Given the description of an element on the screen output the (x, y) to click on. 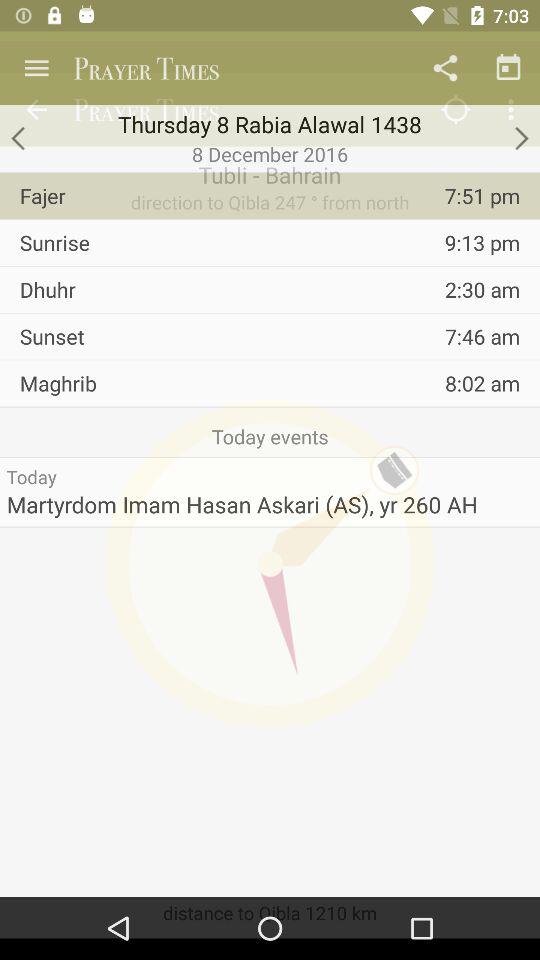
shows goback option (19, 138)
